Given the description of an element on the screen output the (x, y) to click on. 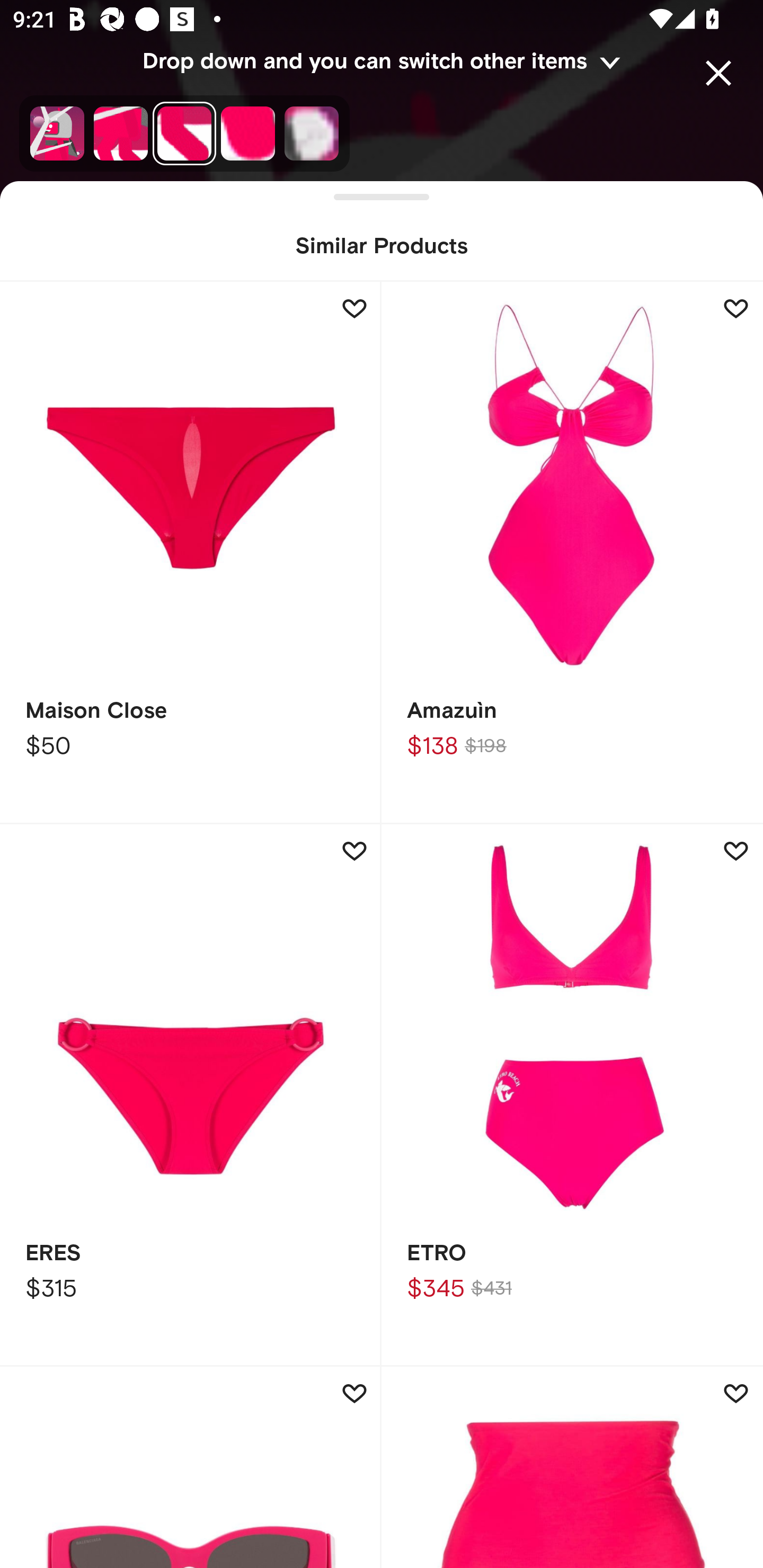
Maison Close $50 (190, 553)
Amazuìn $138 $198 (572, 553)
ERES $315 (190, 1095)
ETRO $345 $431 (572, 1095)
